Given the description of an element on the screen output the (x, y) to click on. 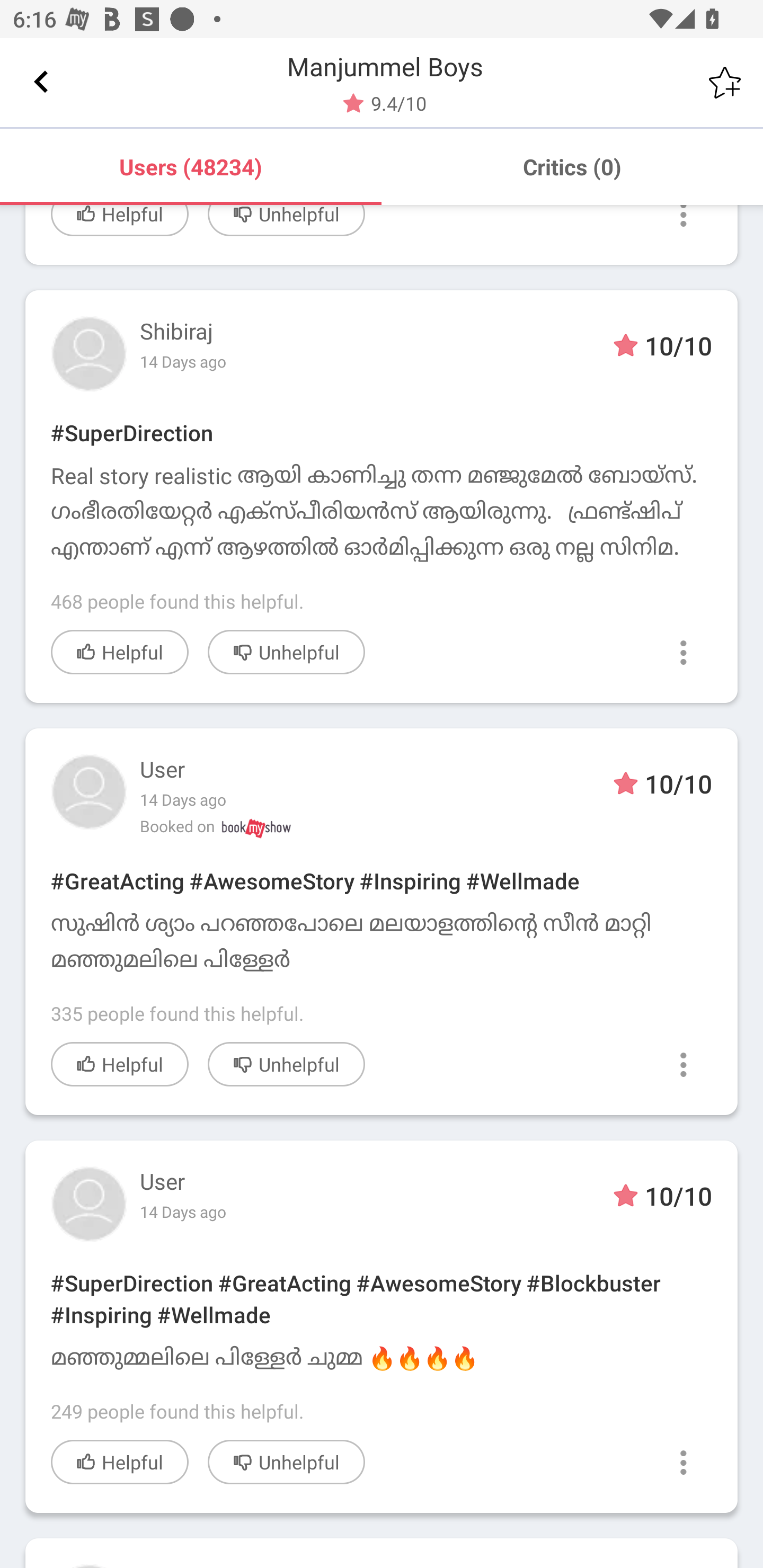
Back (41, 82)
Critics (0) (572, 166)
Helpful (119, 220)
Unhelpful (285, 220)
Helpful (119, 652)
Unhelpful (285, 652)
Helpful (119, 1064)
Unhelpful (285, 1064)
Helpful (119, 1461)
Unhelpful (285, 1461)
